Given the description of an element on the screen output the (x, y) to click on. 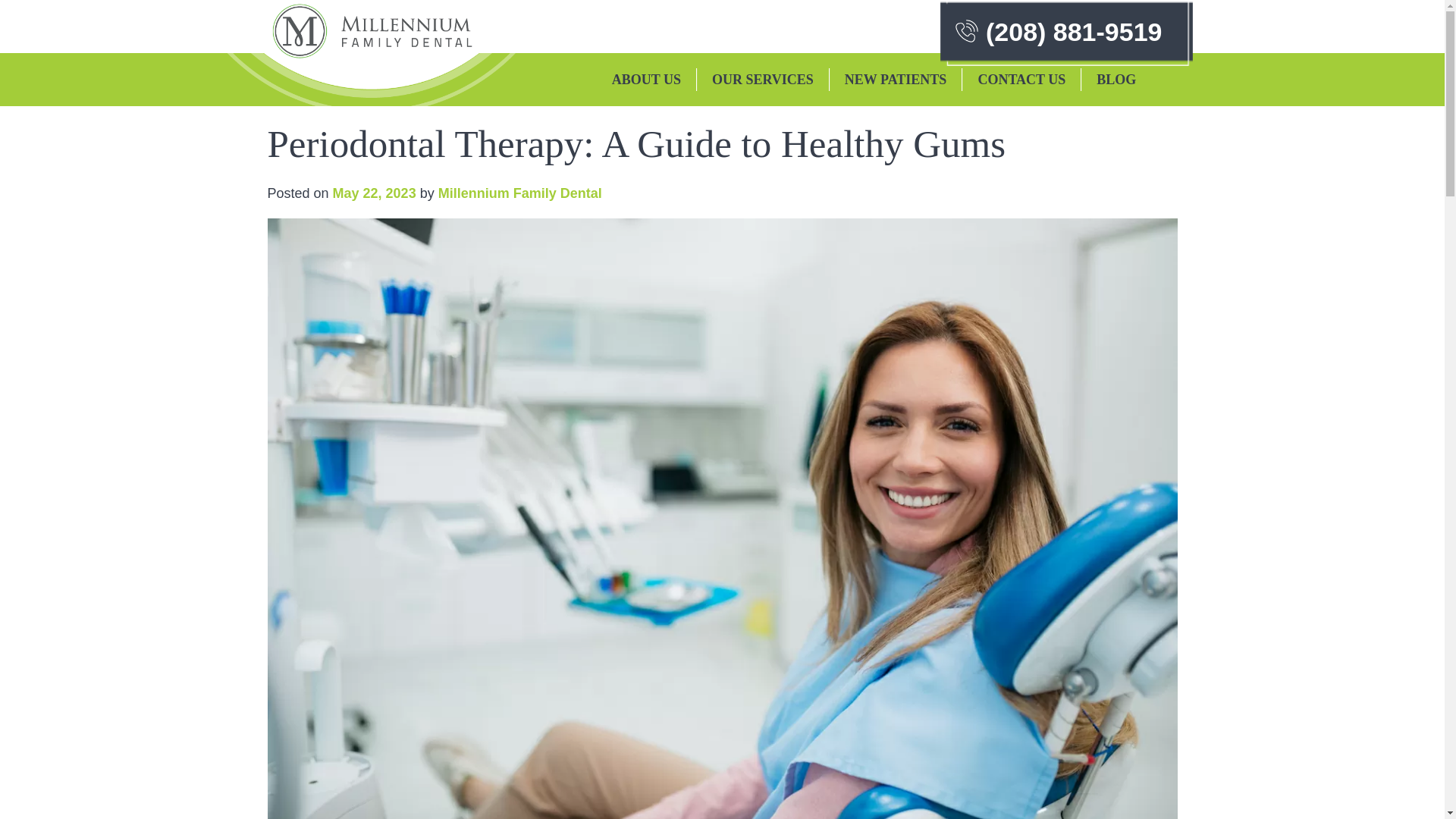
May 22, 2023 (374, 192)
NEW PATIENTS (895, 78)
CONTACT US (1021, 78)
OUR SERVICES (762, 78)
BLOG (1116, 78)
ABOUT US (645, 78)
